Given the description of an element on the screen output the (x, y) to click on. 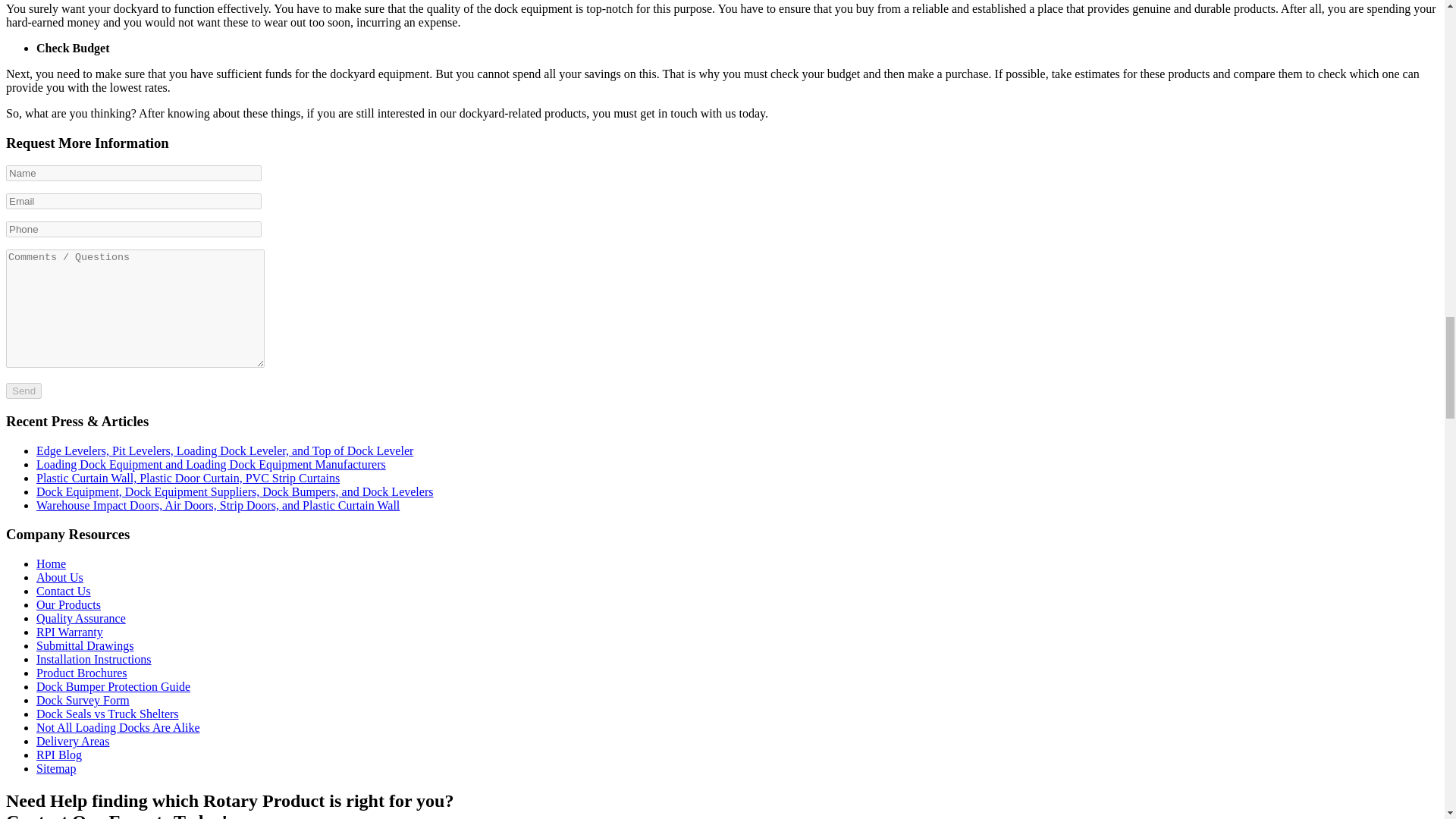
Send (23, 390)
